Given the description of an element on the screen output the (x, y) to click on. 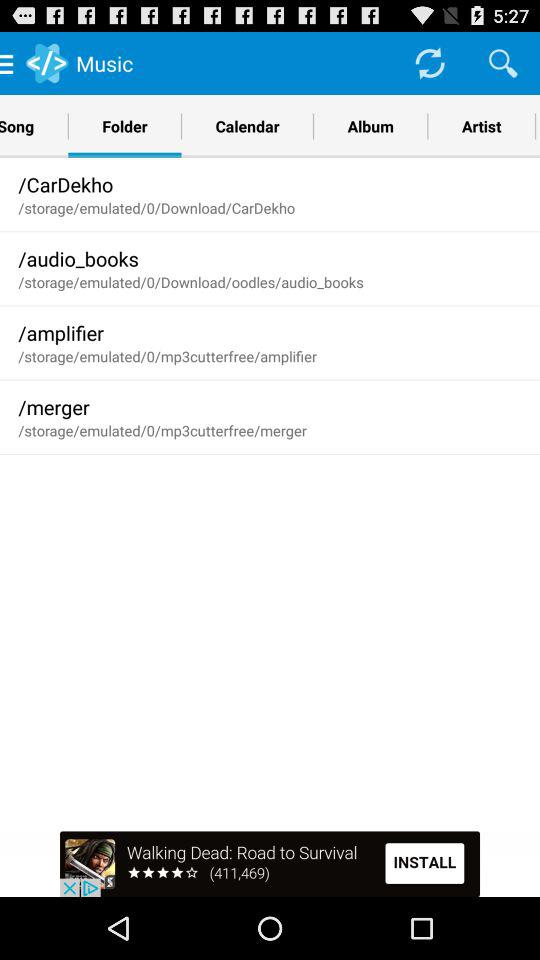
shows refresh option (429, 62)
